Given the description of an element on the screen output the (x, y) to click on. 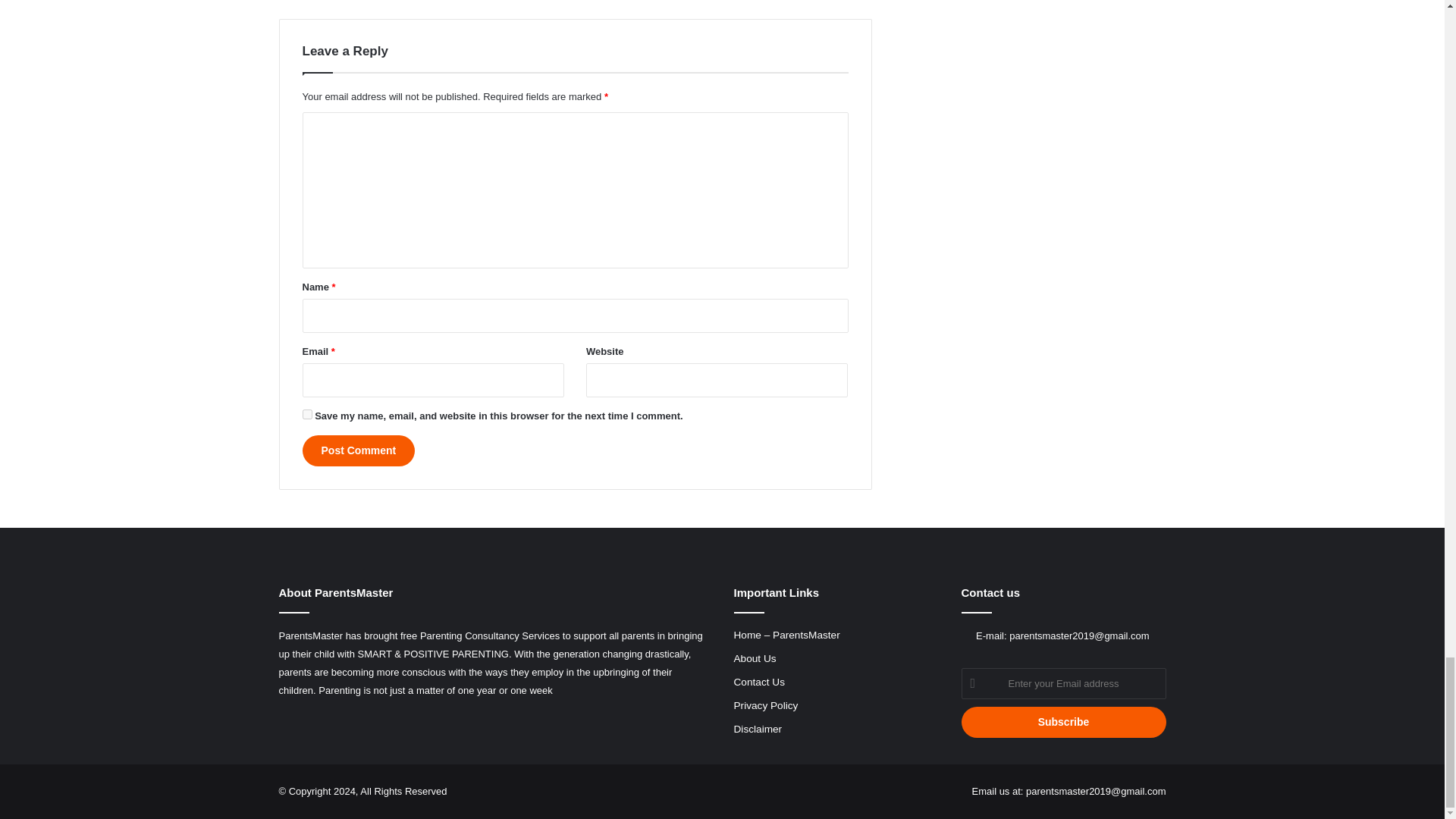
Post Comment (357, 450)
Subscribe (1063, 721)
yes (306, 414)
